Given the description of an element on the screen output the (x, y) to click on. 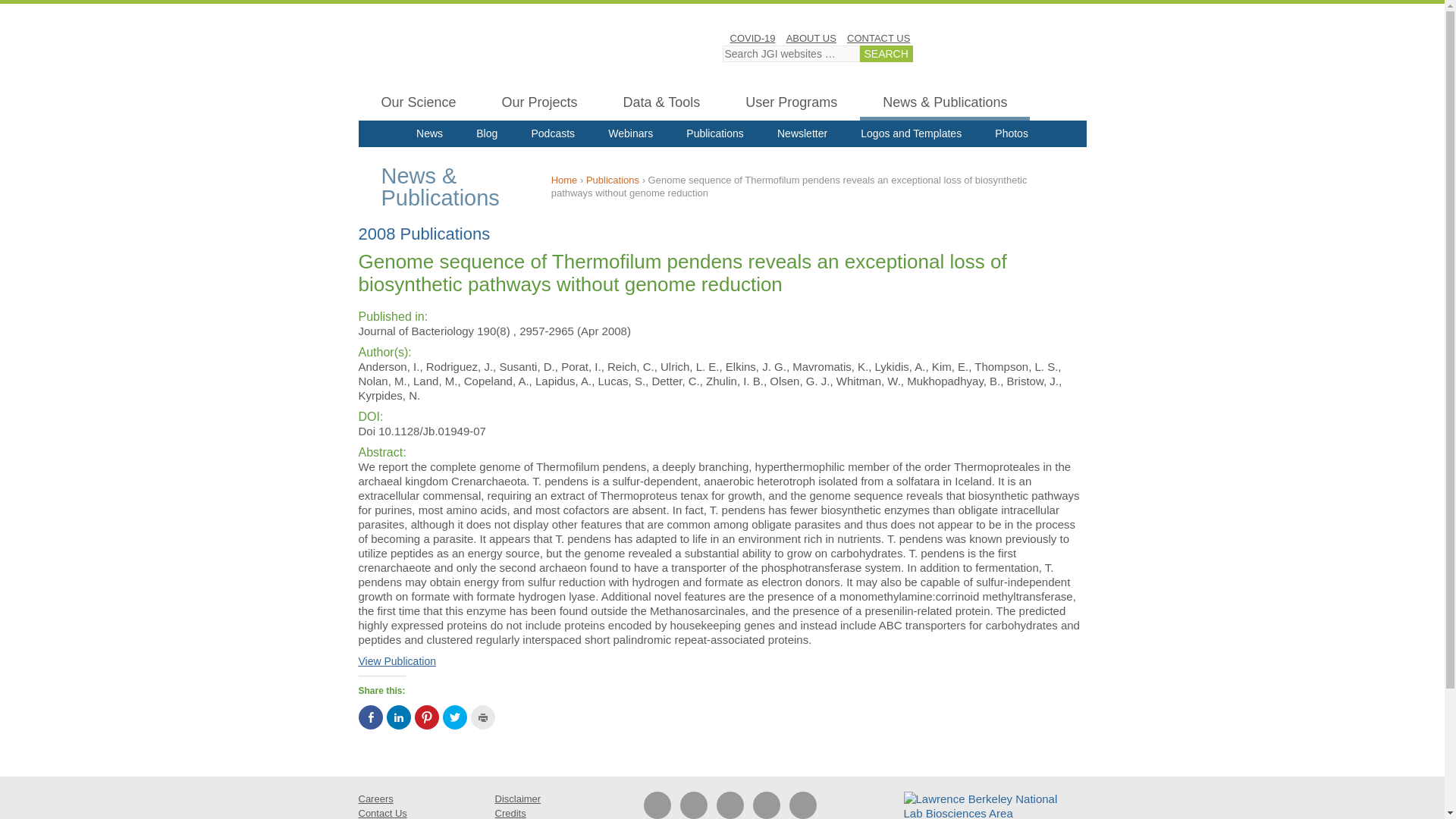
Search (886, 53)
Search (886, 53)
DOE Joint Genome Institute (517, 52)
Click to print (482, 717)
Click to share on Facebook (369, 717)
Our Science (418, 104)
CONTACT US (878, 38)
Click to share on LinkedIn (398, 717)
Click to share on Twitter (454, 717)
COVID-19 (751, 38)
